Given the description of an element on the screen output the (x, y) to click on. 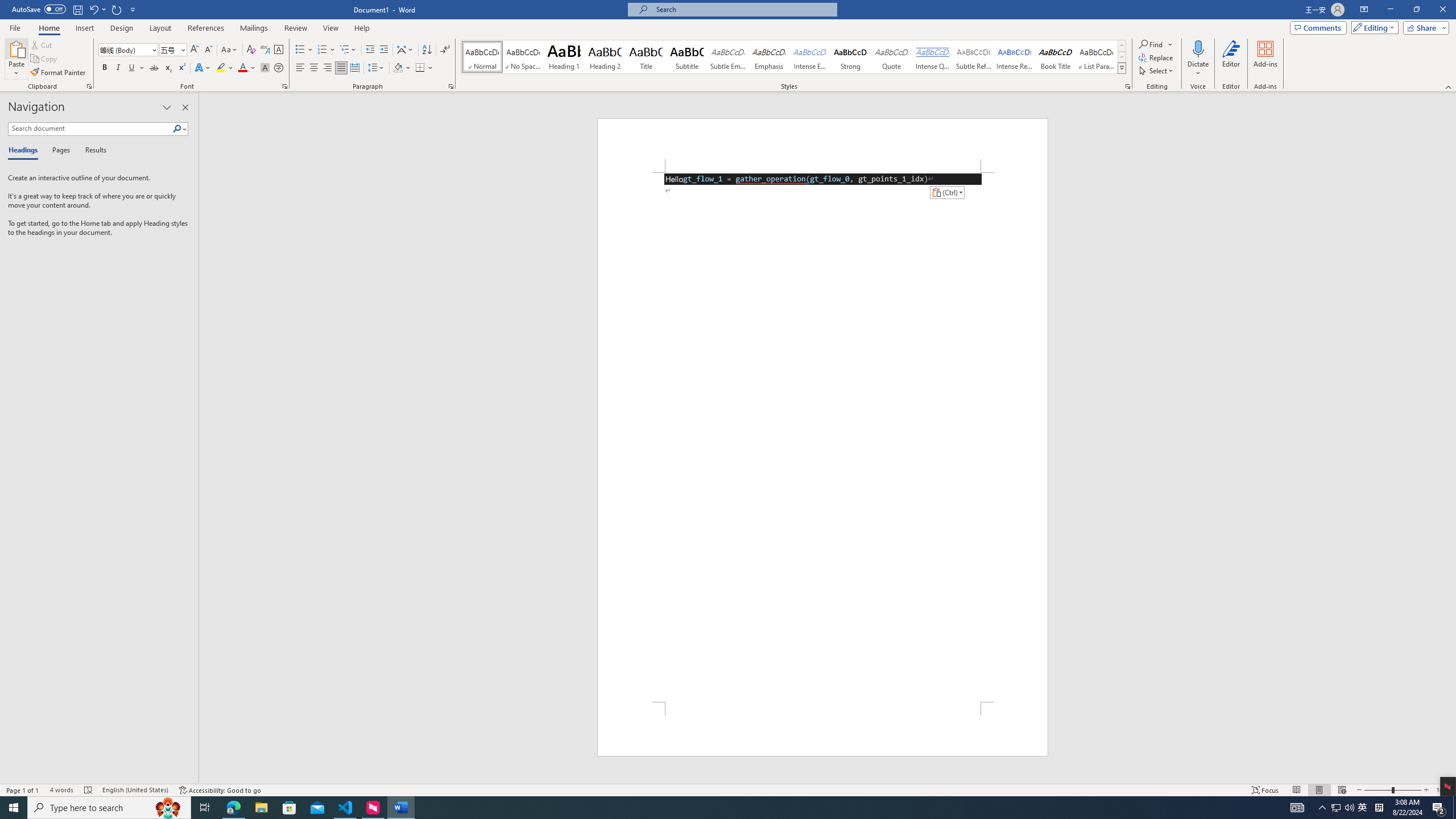
Undo Paste (92, 9)
